Given the description of an element on the screen output the (x, y) to click on. 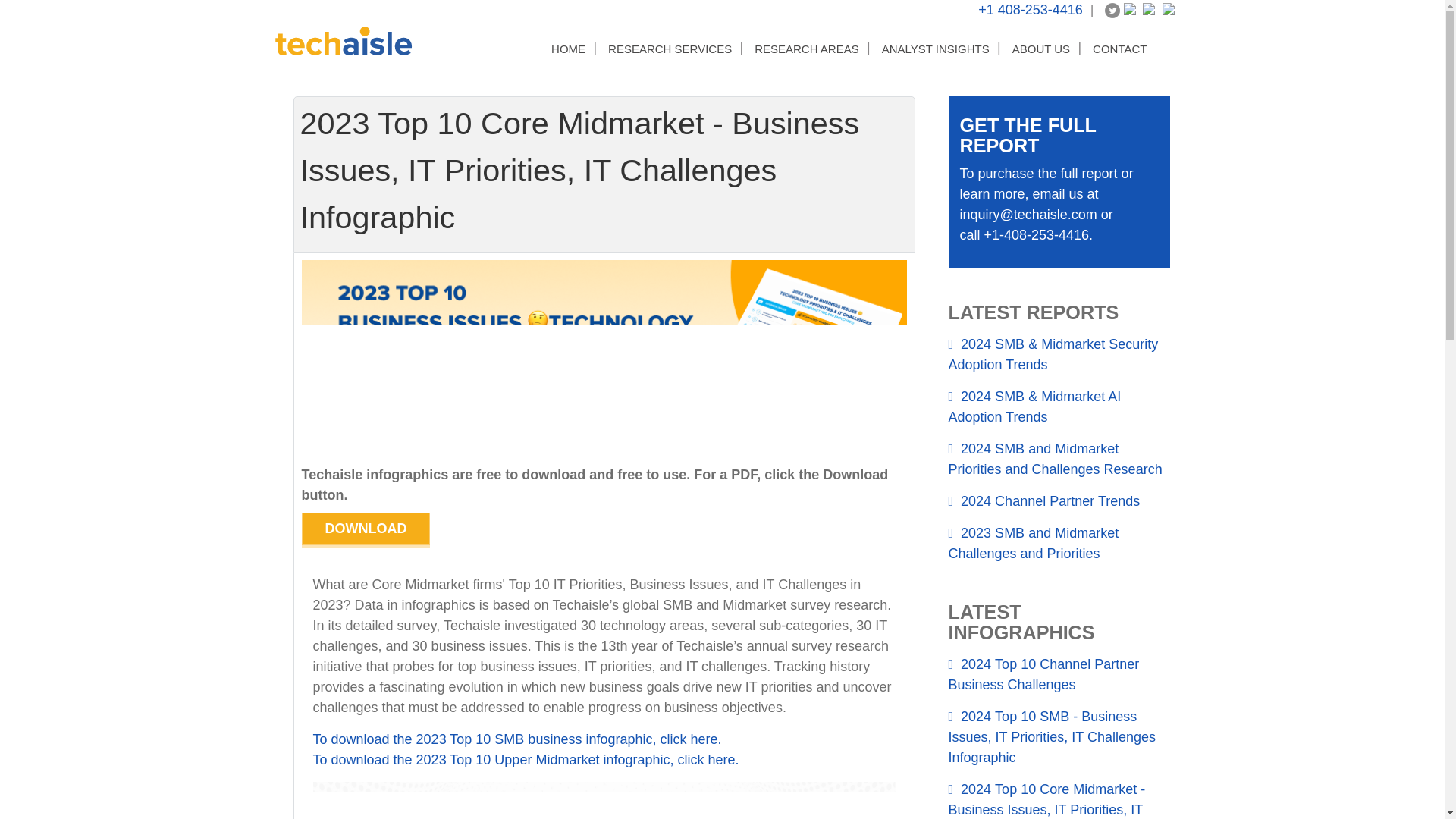
2023 SMB and Midmarket Challenges and Priorities (1058, 543)
ANALYST INSIGHTS (936, 48)
pinterest image (1149, 10)
ABOUT US (1040, 48)
2024 Top 10 Channel Partner Business Challenges (1058, 674)
2024 SMB and Midmarket Priorities and Challenges Research (1058, 459)
techaisle-logo-200 image (342, 40)
RESEARCH SERVICES (670, 48)
CONTACT (1120, 48)
RESEARCH AREAS (806, 48)
blog image (1168, 10)
DOWNLOAD (365, 528)
twitter image (1112, 10)
